Given the description of an element on the screen output the (x, y) to click on. 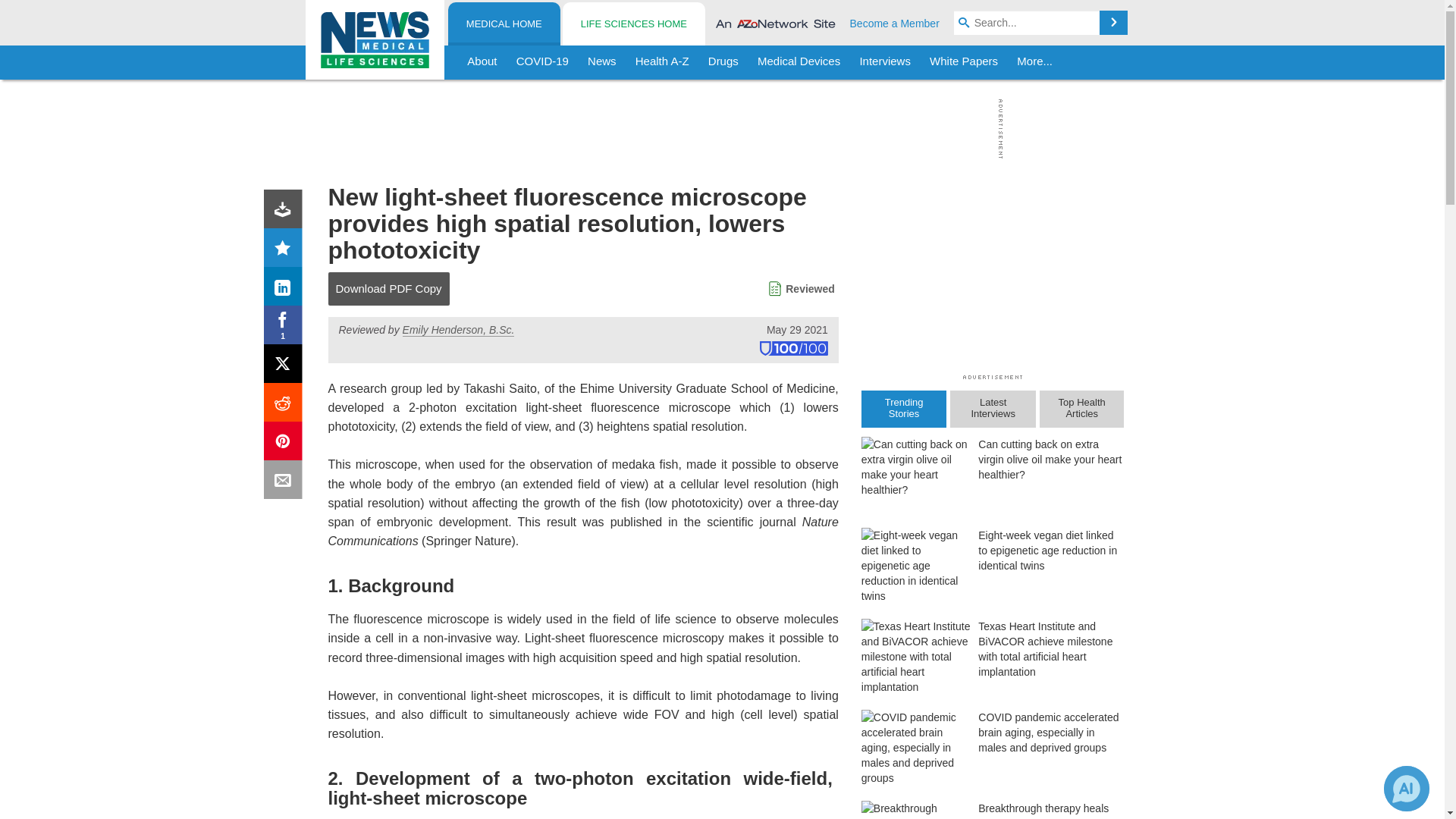
LinkedIn (285, 289)
News (601, 62)
Become a Member (894, 22)
LIFE SCIENCES HOME (633, 23)
X (285, 366)
Interviews (884, 62)
Search (1112, 22)
White Papers (963, 62)
More... (1035, 62)
Reddit (285, 405)
MEDICAL HOME (504, 23)
Health A-Z (662, 62)
Medical Devices (798, 62)
Pinterest (285, 443)
COVID-19 (542, 62)
